Given the description of an element on the screen output the (x, y) to click on. 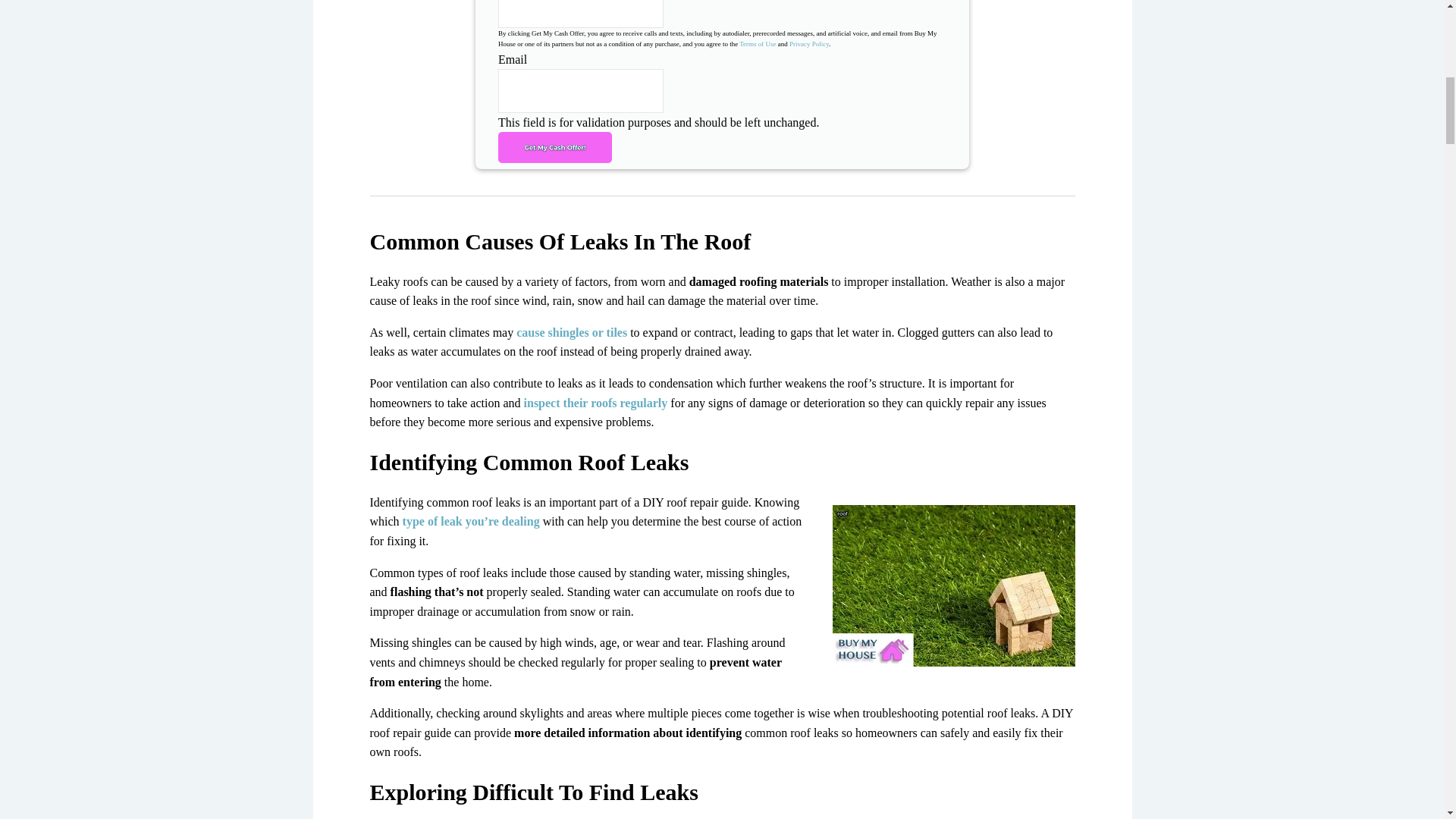
cause shingles or tiles (571, 332)
Privacy Policy (808, 43)
Terms of Use (757, 43)
inspect their roofs regularly (596, 402)
